Given the description of an element on the screen output the (x, y) to click on. 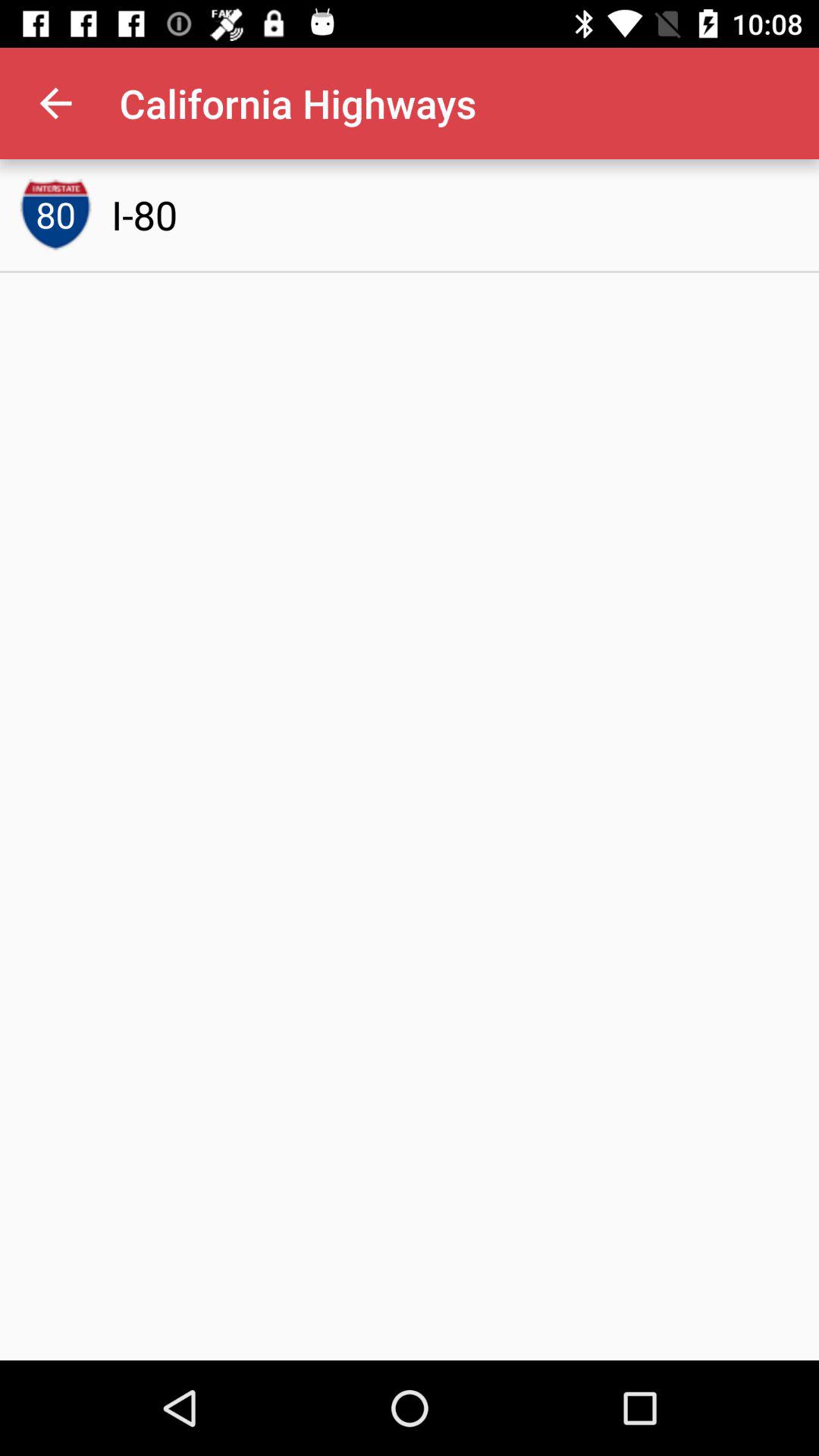
tap icon to the left of california highways (55, 103)
